Given the description of an element on the screen output the (x, y) to click on. 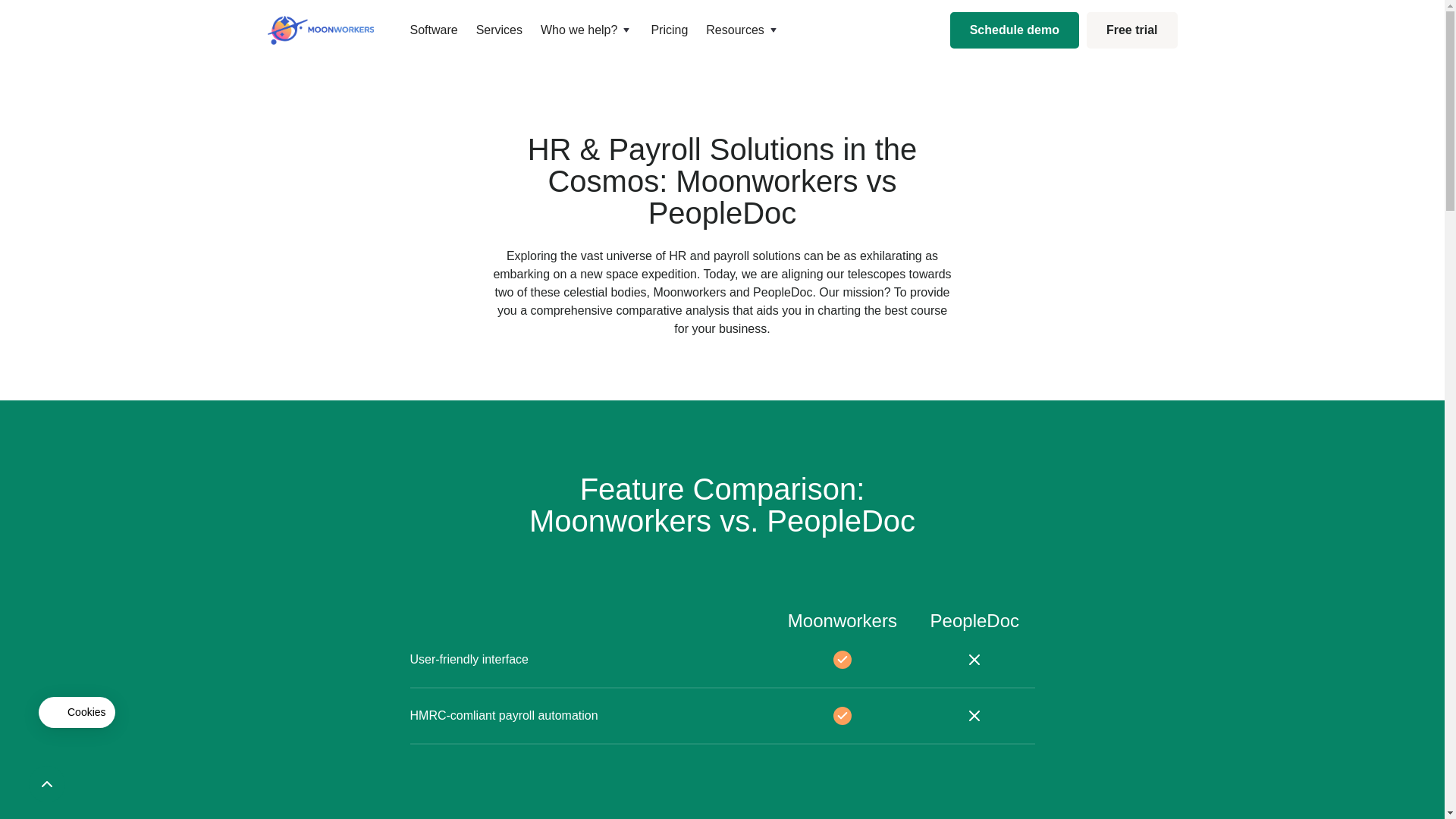
Pricing (669, 30)
Manage your preferences about cookies (77, 712)
Free trial (1131, 30)
0 (19, 787)
Services (499, 30)
Software (432, 30)
Schedule demo (1014, 30)
